Given the description of an element on the screen output the (x, y) to click on. 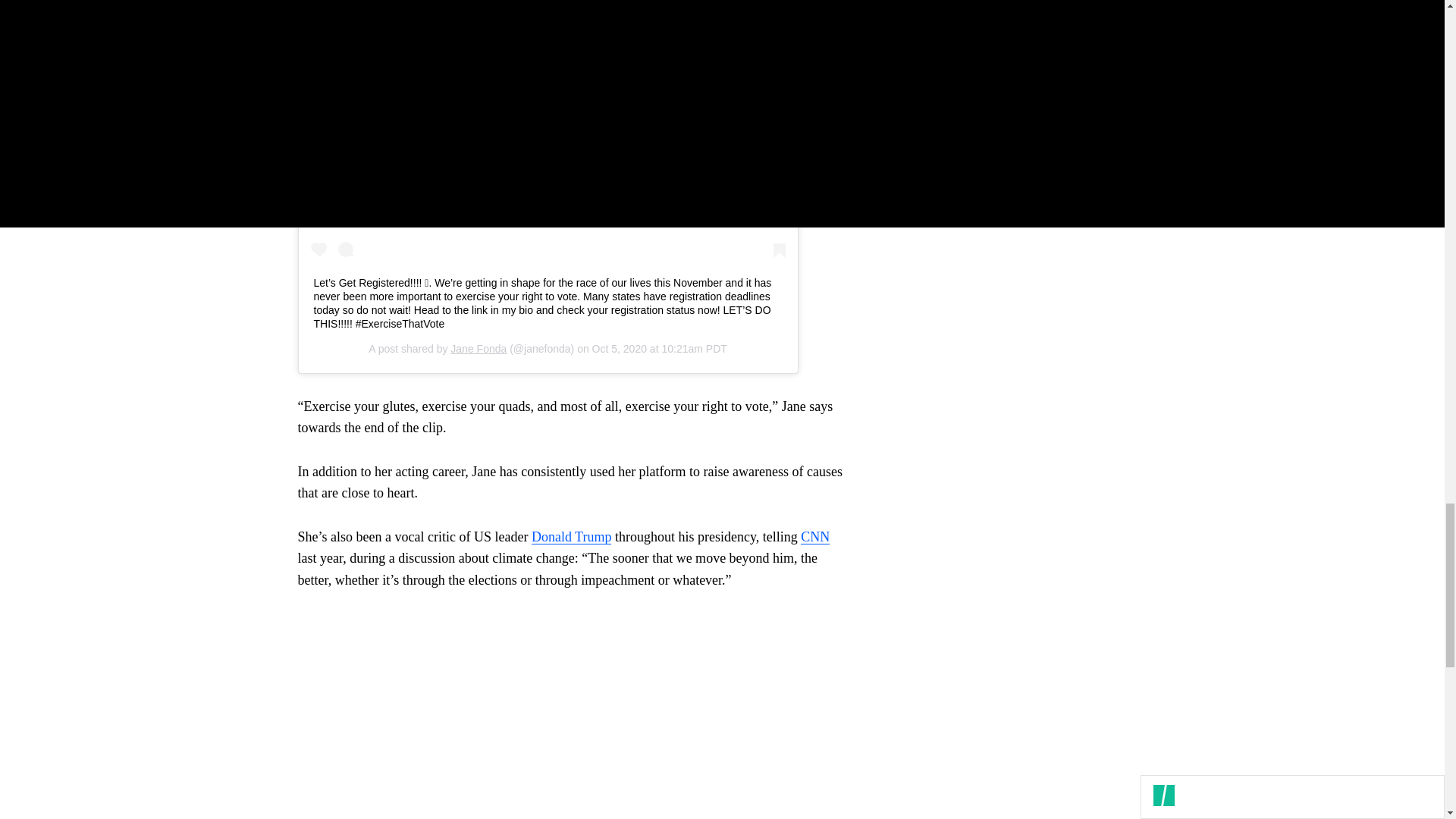
SIGN UP (1098, 115)
